Given the description of an element on the screen output the (x, y) to click on. 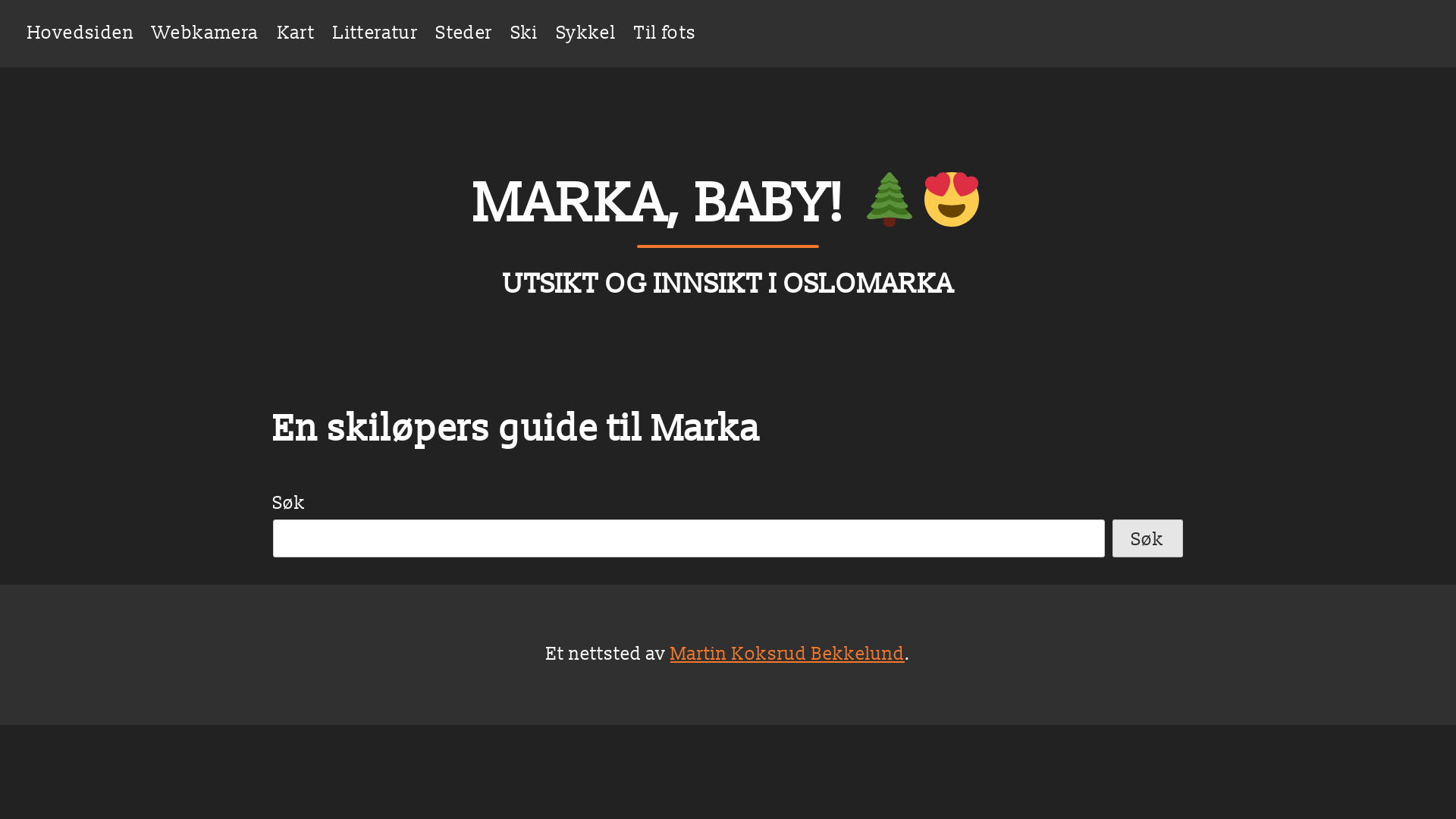
Steder Element type: text (464, 32)
Ski Element type: text (524, 32)
Litteratur Element type: text (374, 32)
Kart Element type: text (296, 32)
Til fots Element type: text (664, 32)
Sykkel Element type: text (585, 32)
Hovedsiden Element type: text (80, 32)
Martin Koksrud Bekkelund Element type: text (787, 654)
MARKA, BABY! Element type: text (727, 204)
Webkamera Element type: text (205, 32)
